Given the description of an element on the screen output the (x, y) to click on. 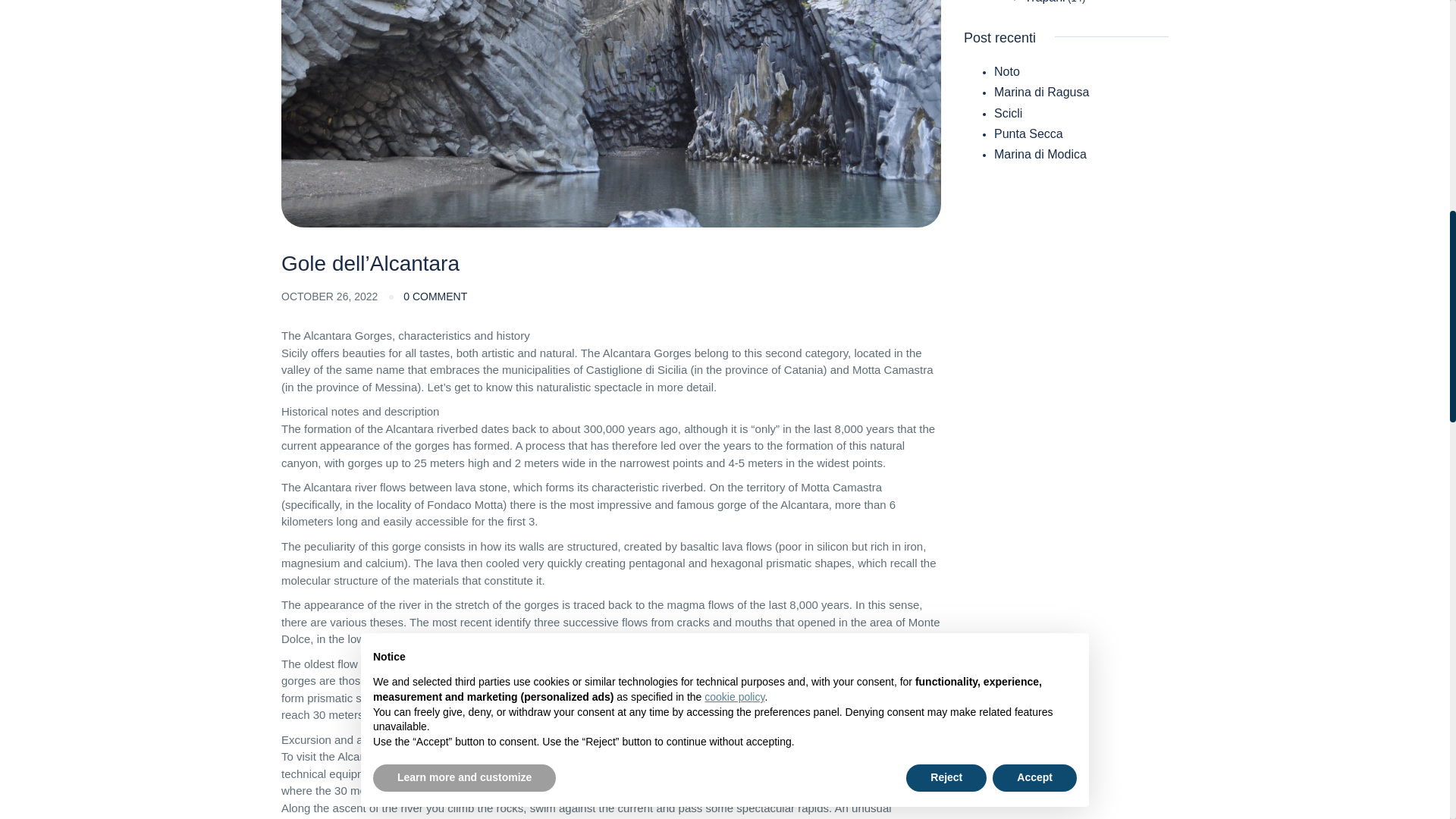
Marina di Ragusa (1041, 91)
Trapani (1045, 2)
Scicli (1008, 113)
Noto (1007, 71)
